Given the description of an element on the screen output the (x, y) to click on. 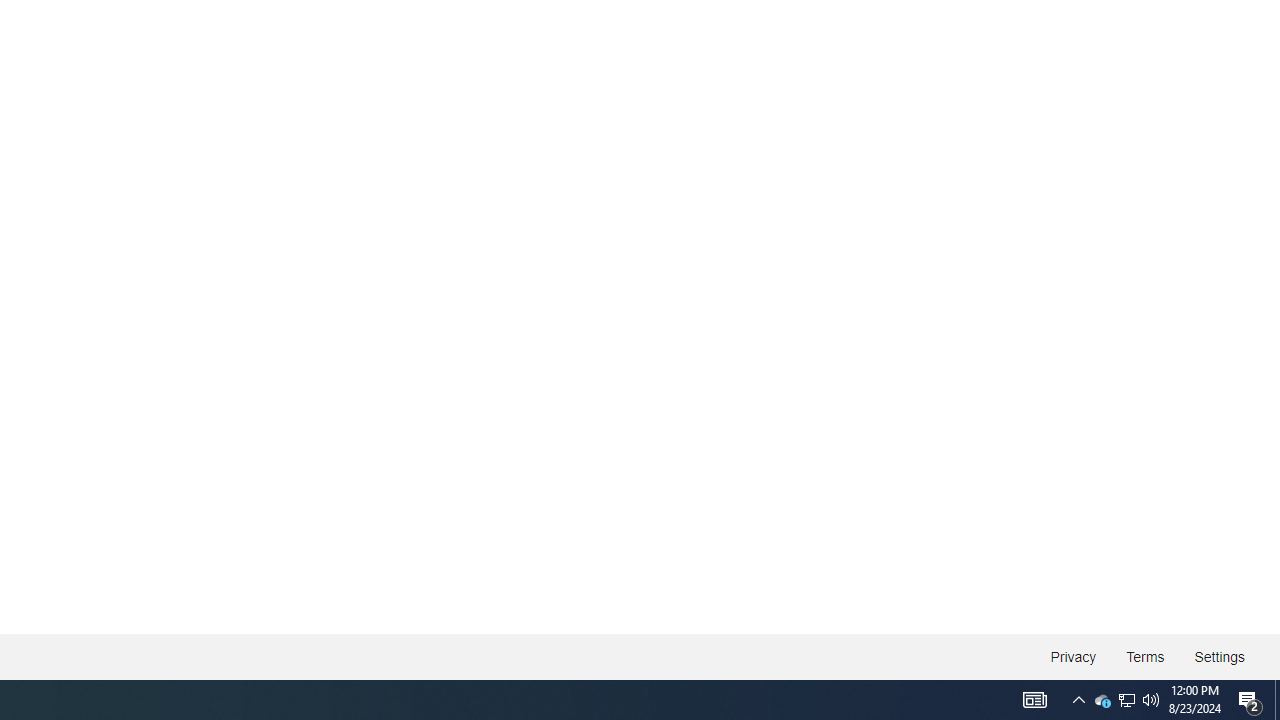
Settings (1218, 656)
Privacy (1073, 656)
